Given the description of an element on the screen output the (x, y) to click on. 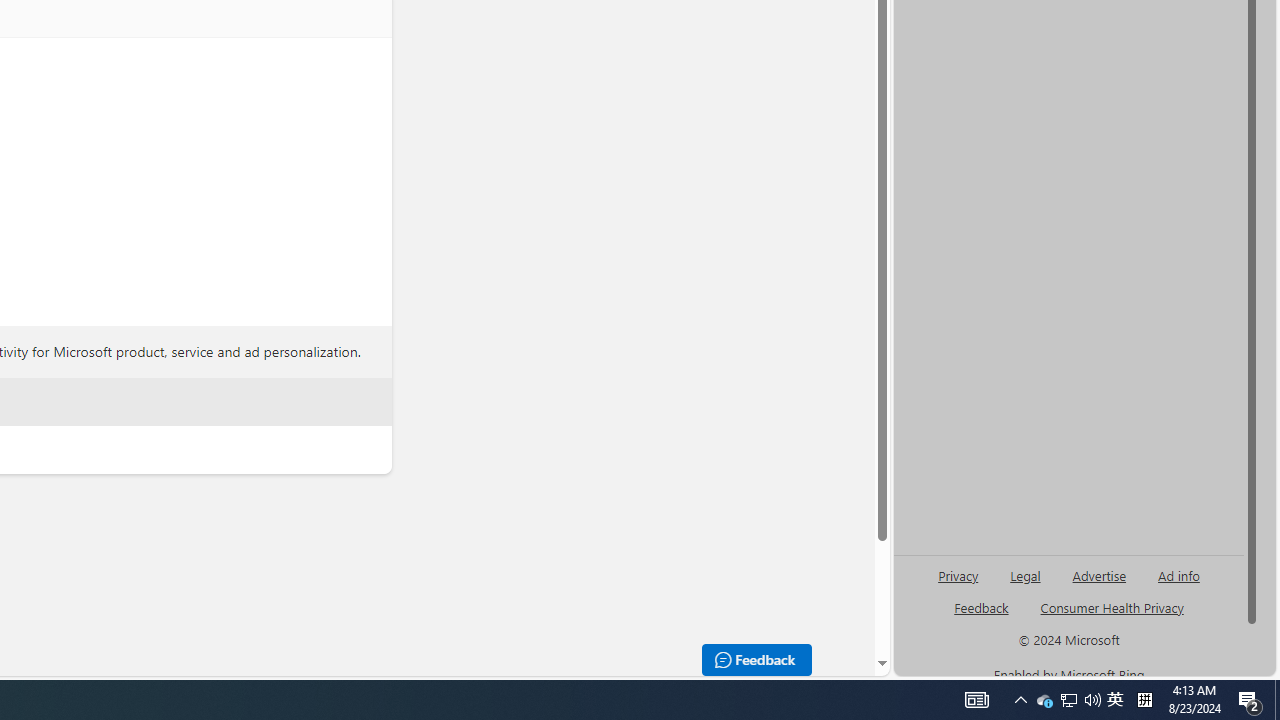
AutomationID: genId96 (981, 615)
AutomationID: sb_feedback (980, 607)
